Given the description of an element on the screen output the (x, y) to click on. 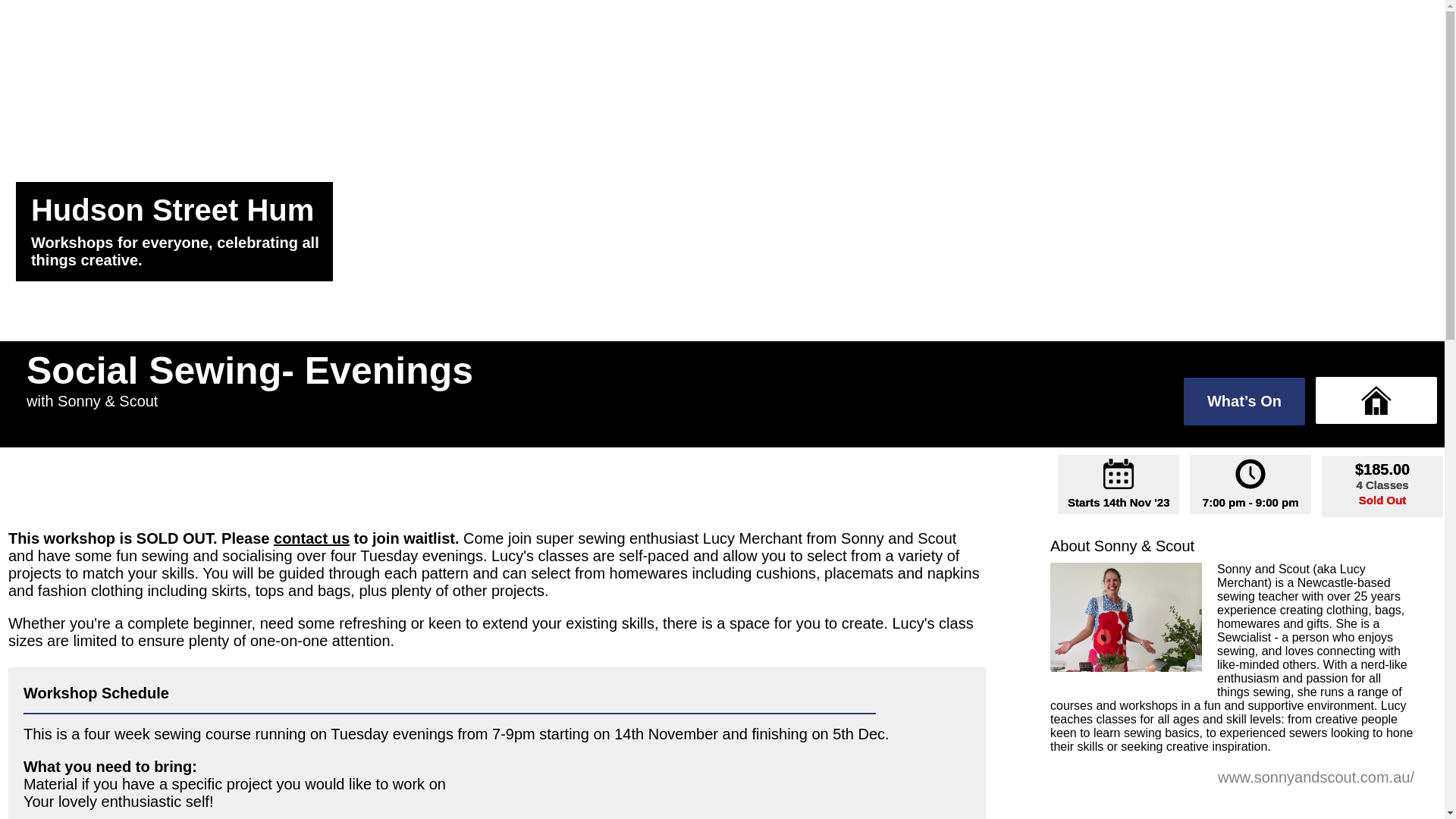
www.sonnyandscout.com.au/ Element type: text (1315, 776)
contact us Element type: text (311, 538)
